Given the description of an element on the screen output the (x, y) to click on. 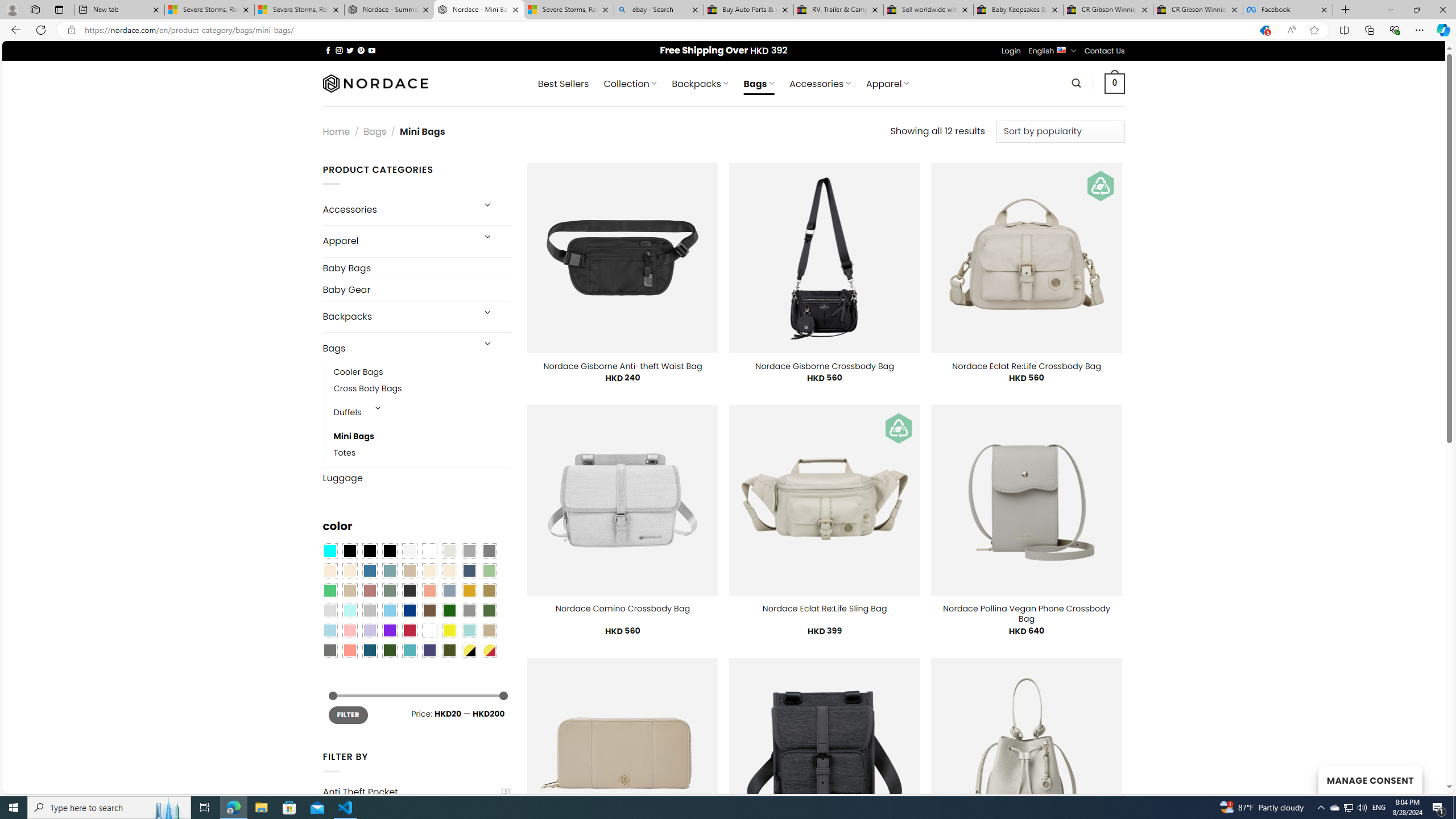
Baby Gear (416, 289)
Cross Body Bags (422, 388)
Yellow (449, 630)
Nordace Eclat Re:Life Crossbody Bag (1026, 365)
Gray (468, 610)
All Gray (488, 550)
 Best Sellers (563, 83)
Nordace - Mini Bags (478, 9)
Rose (369, 590)
Aqua (468, 630)
Purple (389, 630)
